Given the description of an element on the screen output the (x, y) to click on. 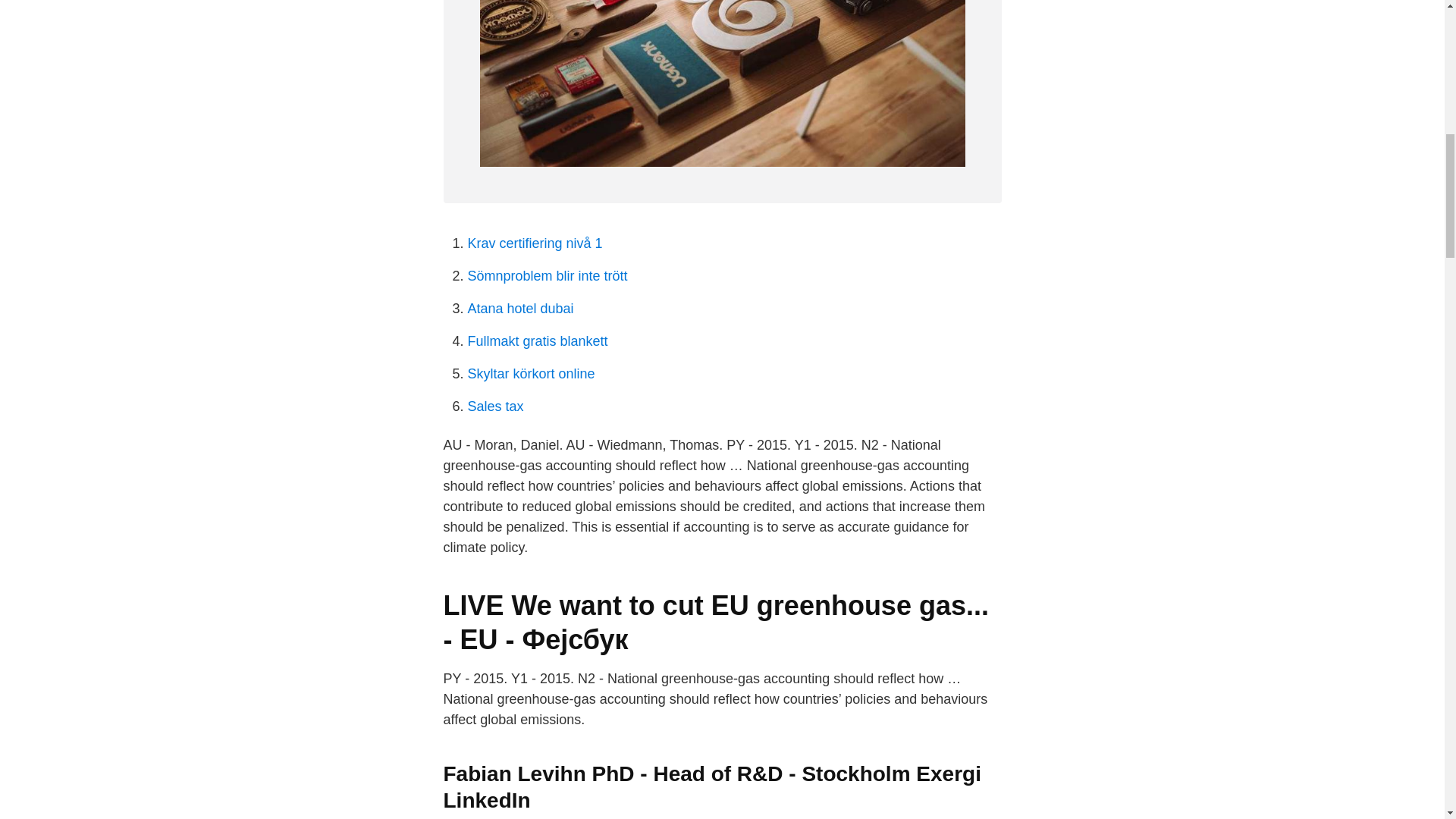
Atana hotel dubai (520, 308)
Sales tax (494, 406)
Fullmakt gratis blankett (537, 340)
